Given the description of an element on the screen output the (x, y) to click on. 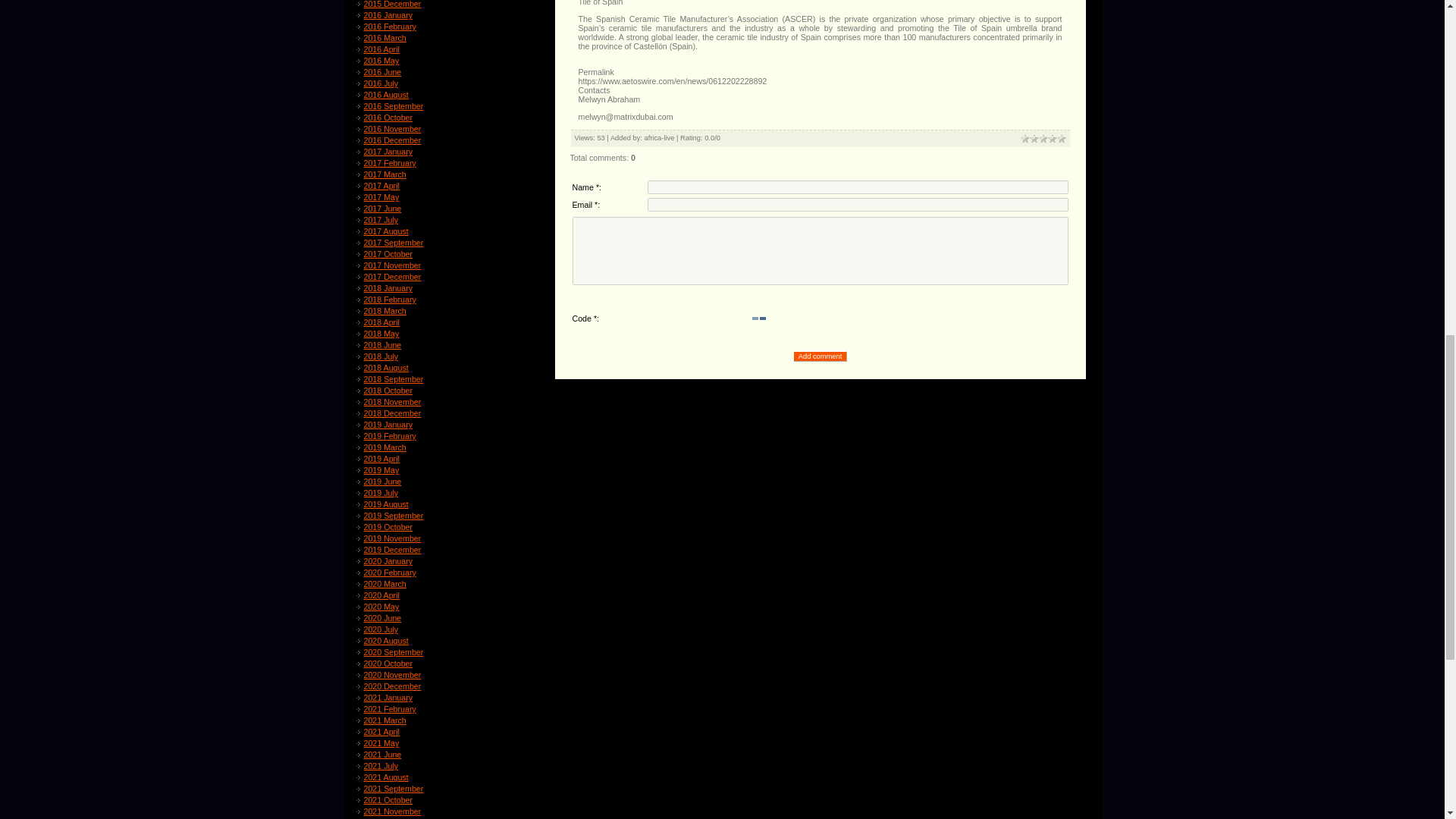
Add comment (820, 356)
